Given the description of an element on the screen output the (x, y) to click on. 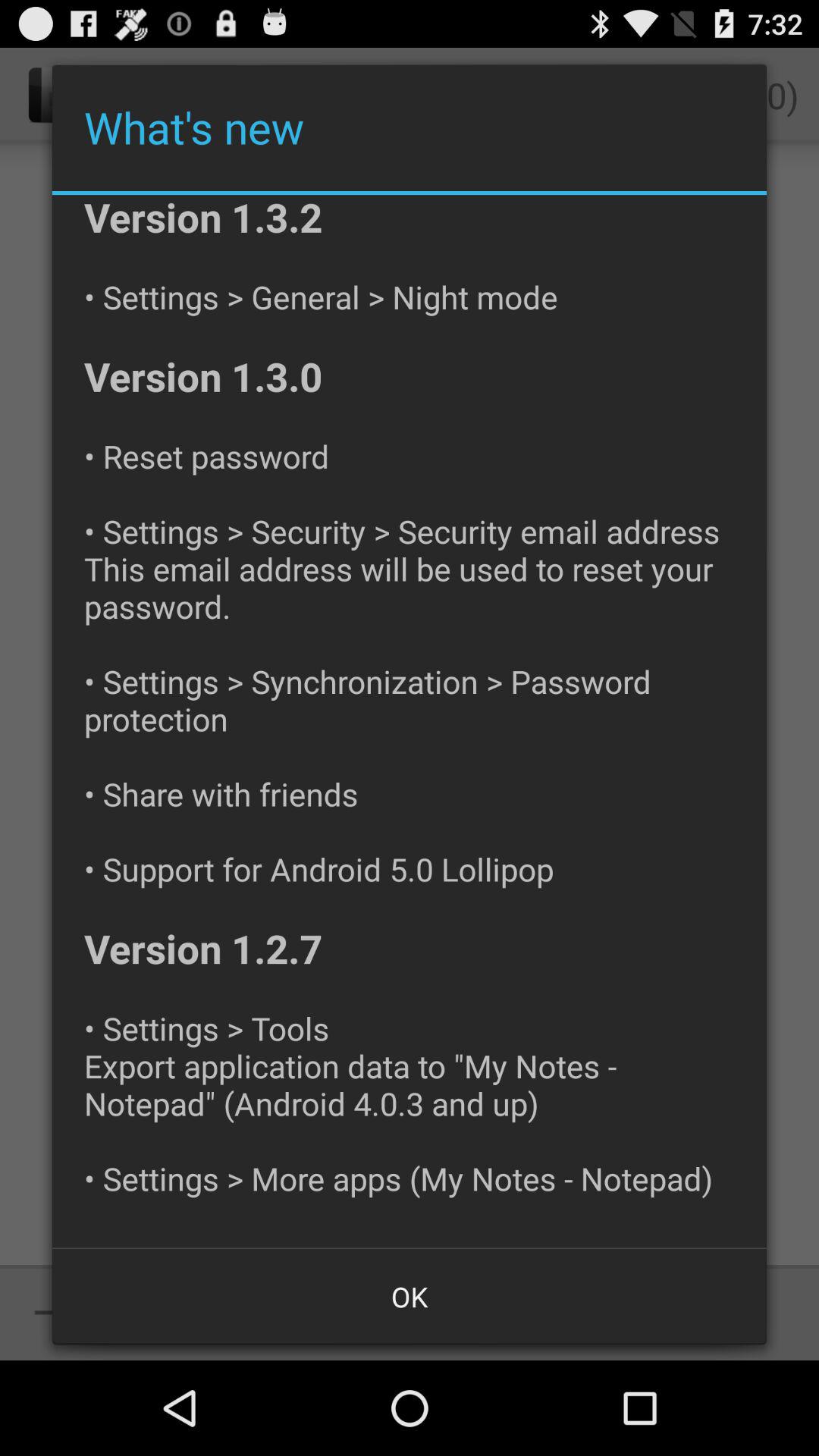
select the item at the bottom (409, 1296)
